Given the description of an element on the screen output the (x, y) to click on. 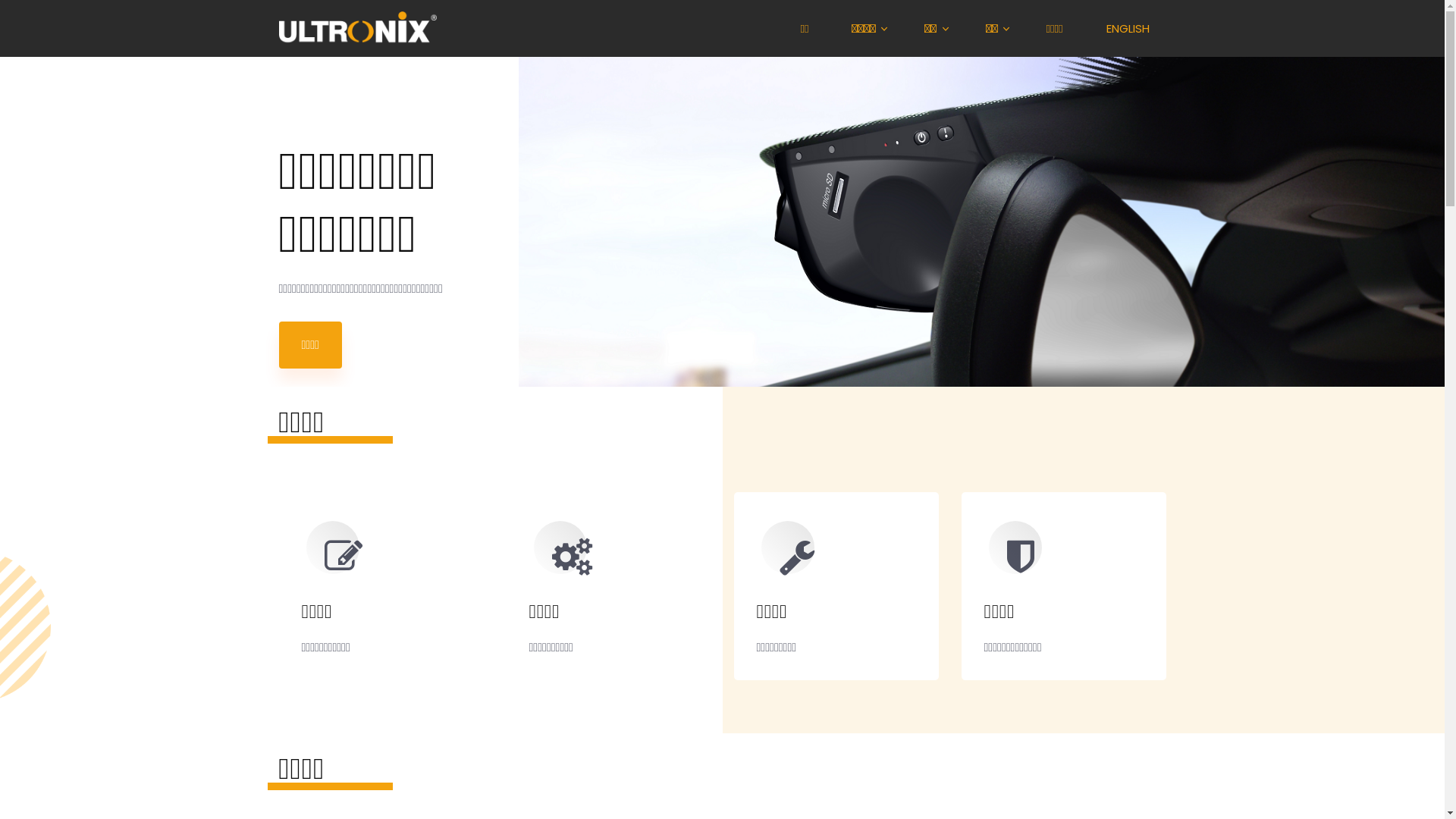
ENGLISH Element type: text (1130, 28)
